Given the description of an element on the screen output the (x, y) to click on. 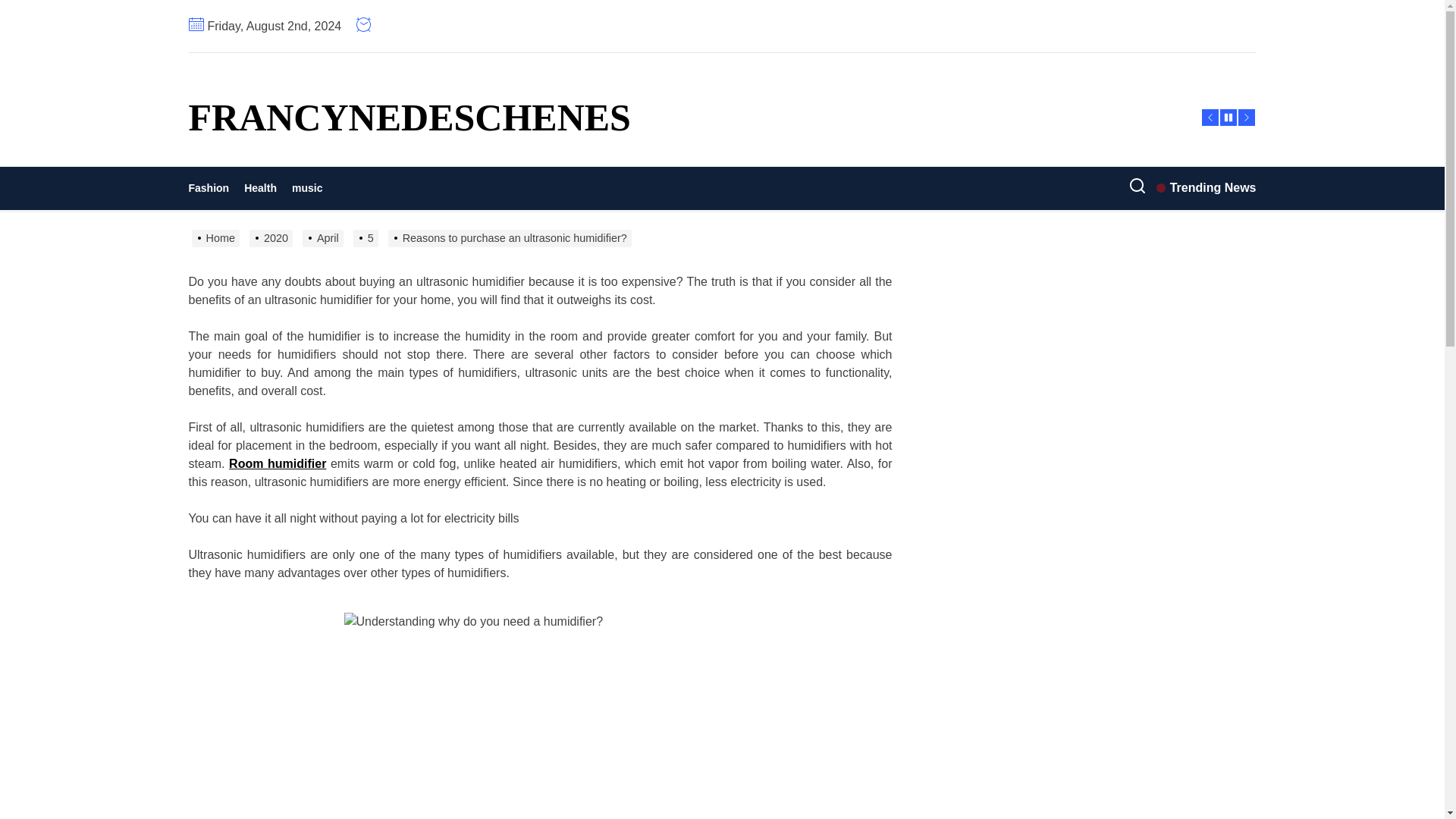
Health (259, 188)
Trending News (1206, 188)
music (306, 188)
FRANCYNEDESCHENES (408, 117)
Fashion (211, 188)
